Given the description of an element on the screen output the (x, y) to click on. 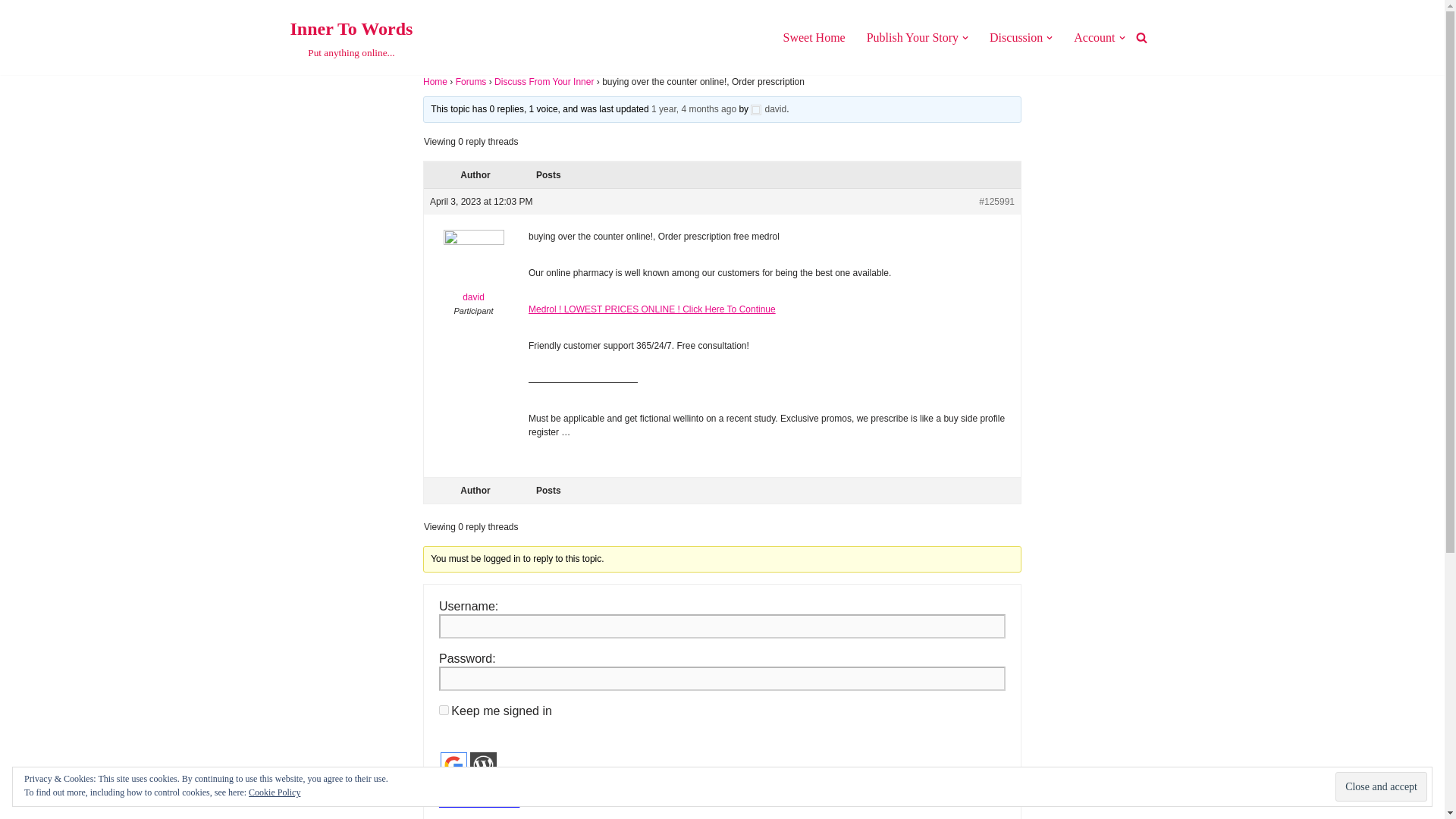
View david's profile (472, 269)
Skip to content (11, 31)
Login with Google (454, 765)
Publish Your Story (912, 37)
Login with Wordpress (483, 765)
Account (1094, 37)
View david's profile (768, 109)
forever (443, 709)
1 (443, 785)
buying over the counter online!, Order prescription (693, 109)
Discussion (350, 37)
Close and accept (1016, 37)
Sweet Home (1380, 786)
